Given the description of an element on the screen output the (x, y) to click on. 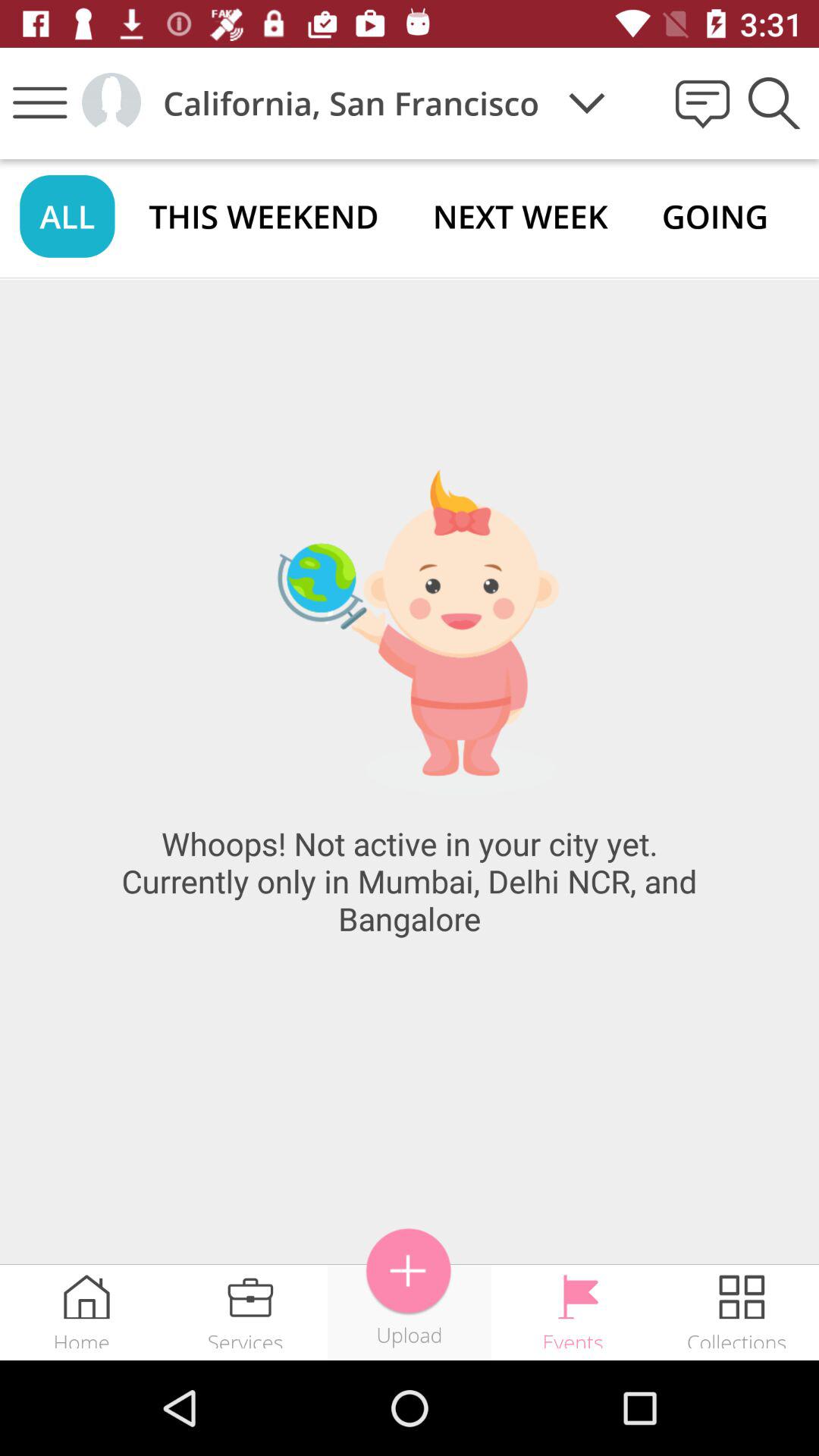
choose california, san francisco item (351, 102)
